Given the description of an element on the screen output the (x, y) to click on. 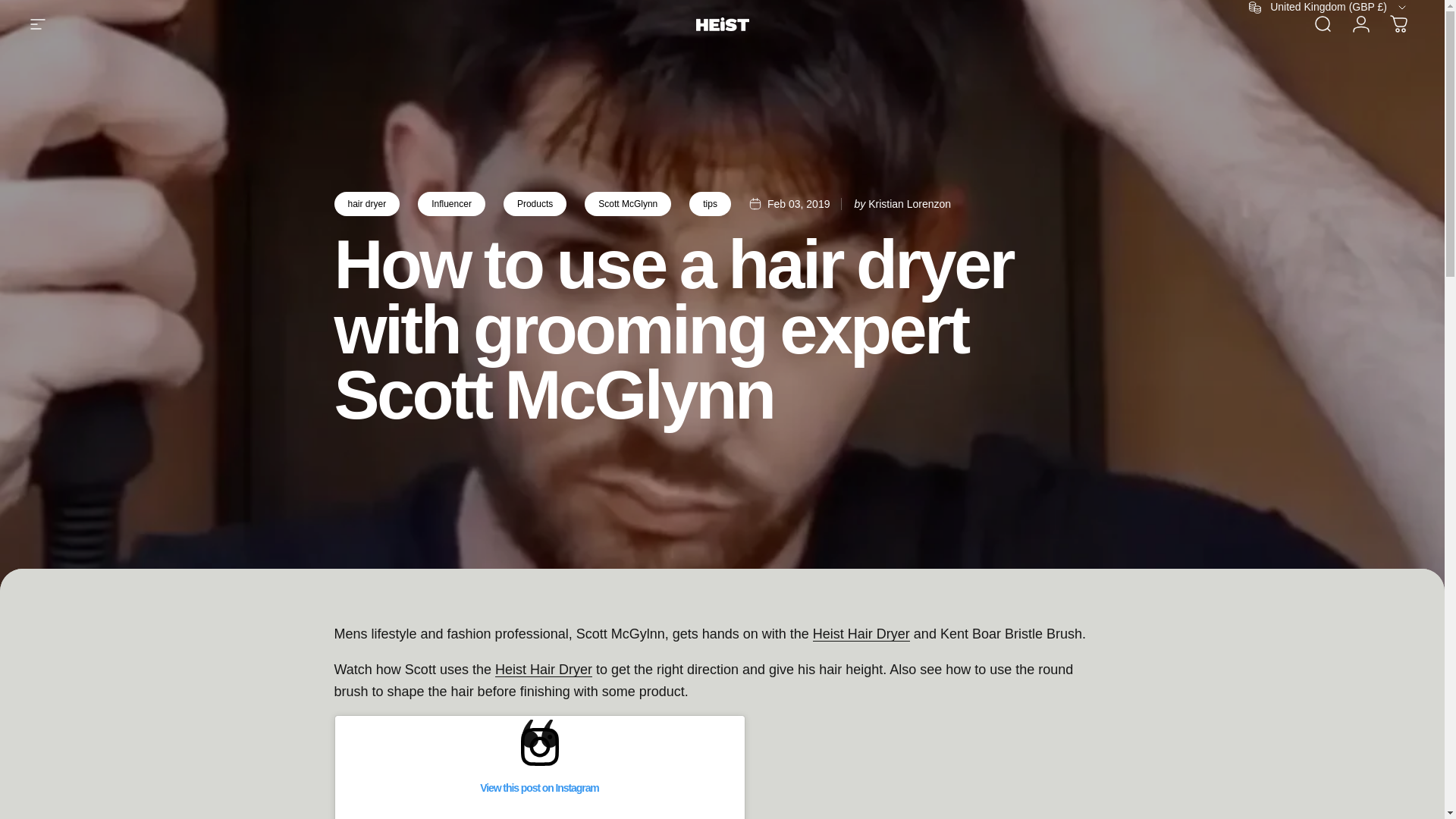
Instagram (110, 7)
Heist of London on Twitter (76, 7)
YouTube (143, 7)
Heist Hair Dryer (543, 669)
Facebook (43, 7)
Twitter (76, 7)
Heist of London on Facebook (43, 7)
Heist of London on TikTok (177, 7)
TikTok (177, 7)
Heist of London on YouTube (143, 7)
